Given the description of an element on the screen output the (x, y) to click on. 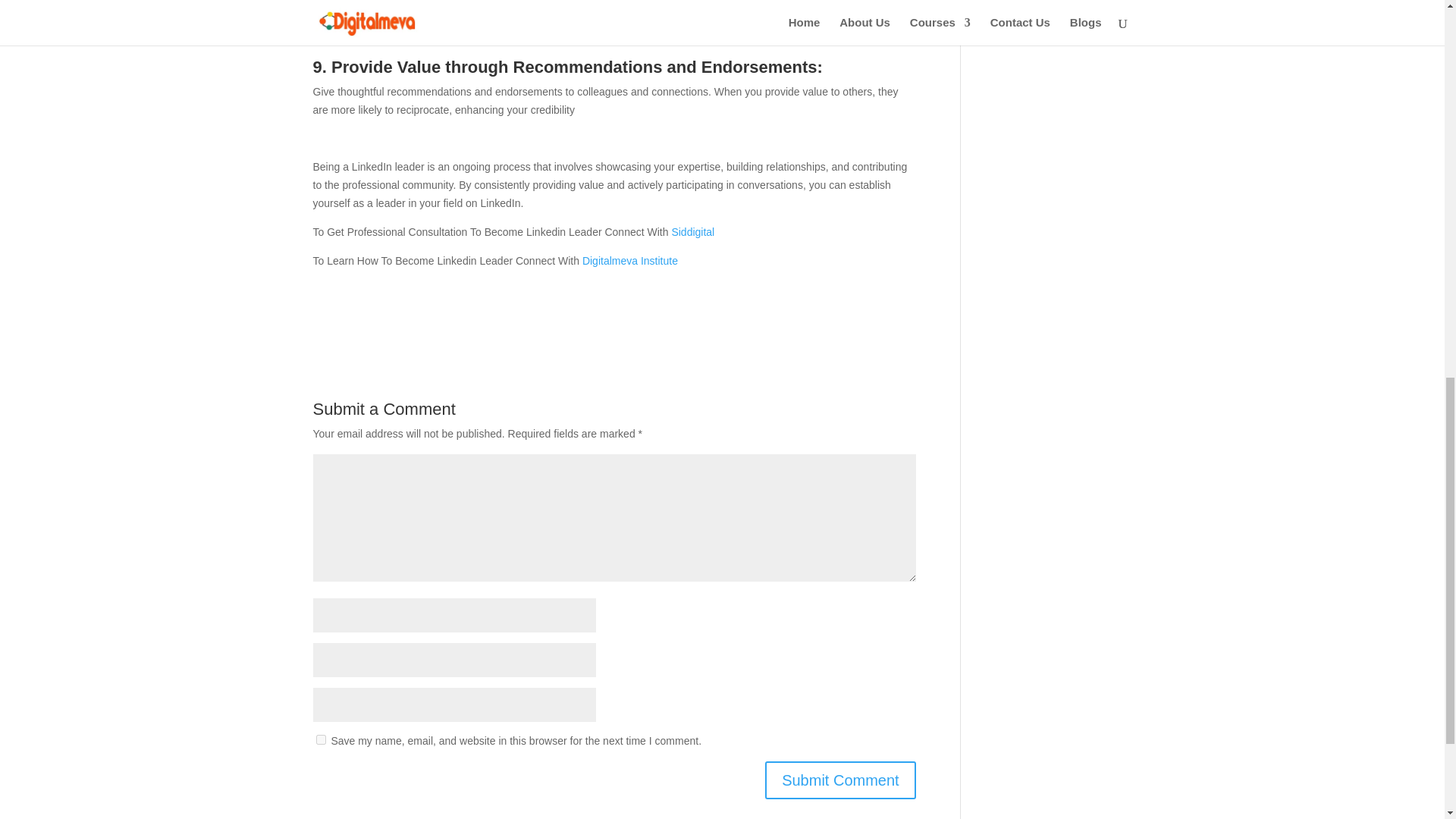
Submit Comment (840, 780)
Submit Comment (840, 780)
Digitalmeva Institute (630, 260)
yes (319, 739)
Siddigital (692, 232)
